Given the description of an element on the screen output the (x, y) to click on. 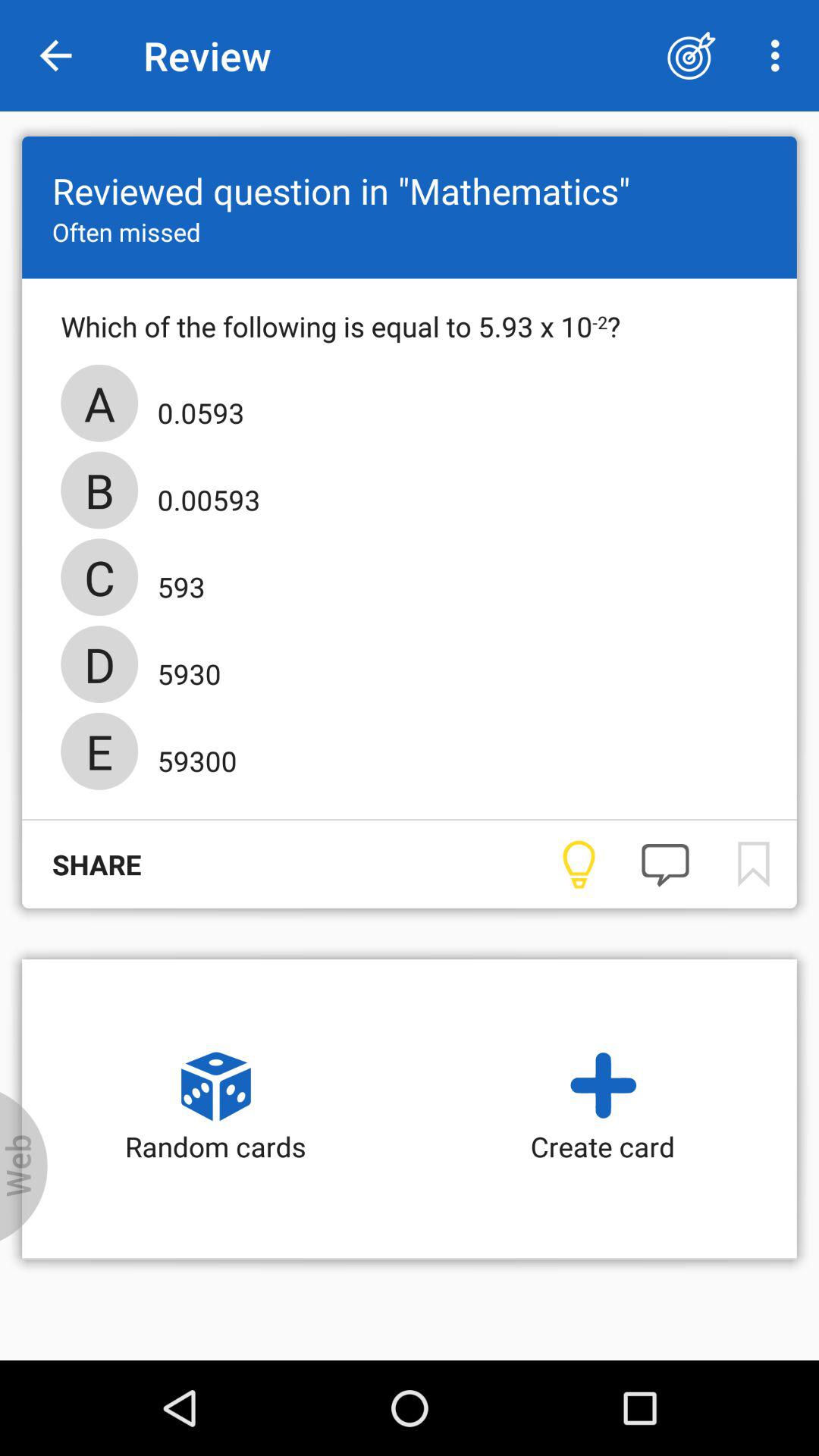
open web browser (23, 1166)
